Given the description of an element on the screen output the (x, y) to click on. 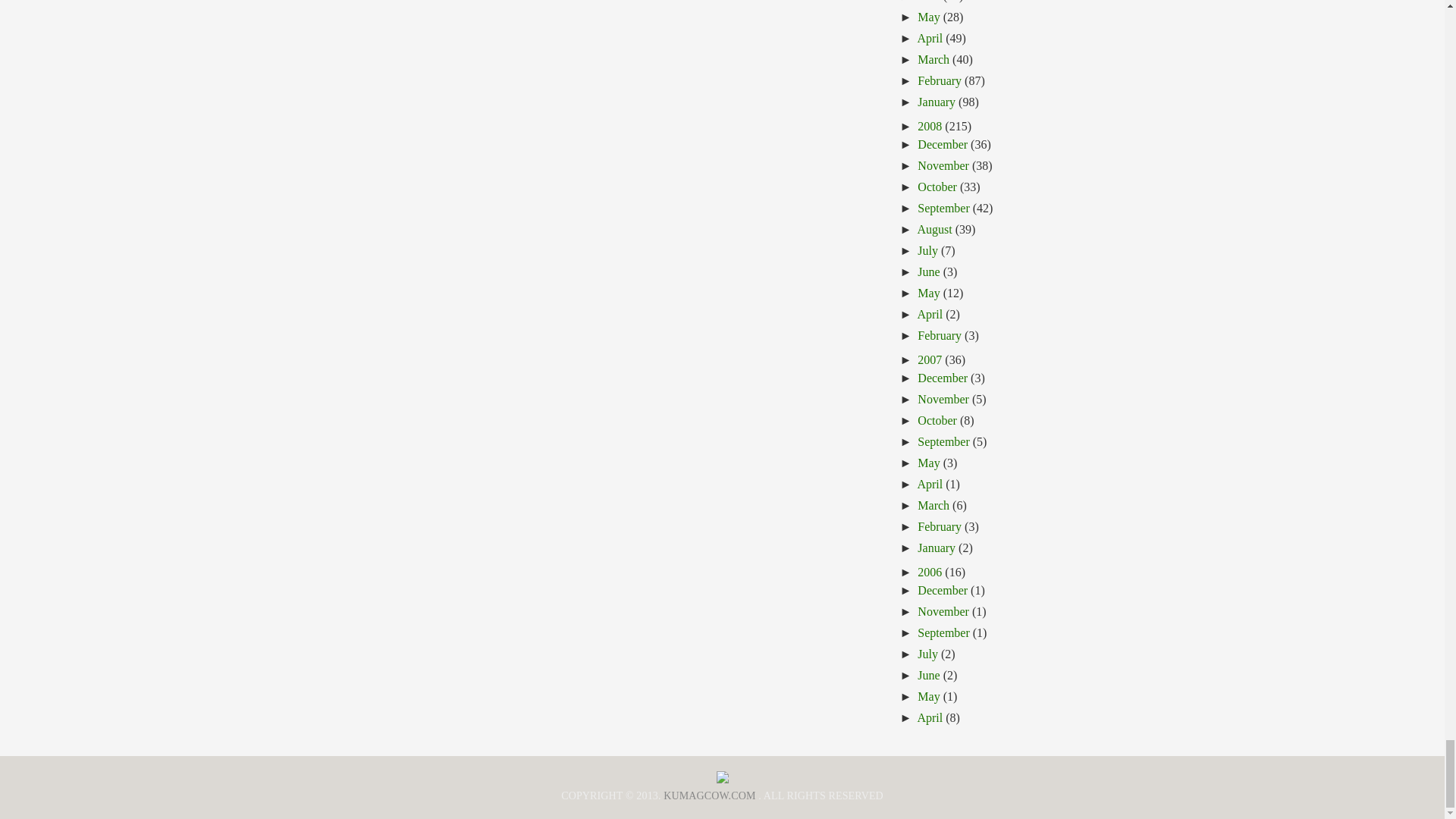
KUMAGCOW.COM (709, 795)
